Given the description of an element on the screen output the (x, y) to click on. 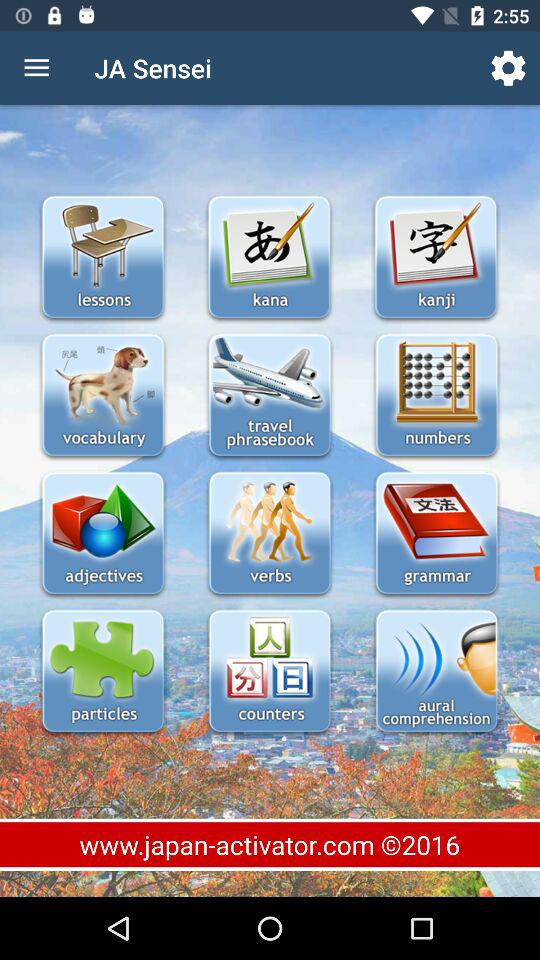
view vocabulary (102, 396)
